Given the description of an element on the screen output the (x, y) to click on. 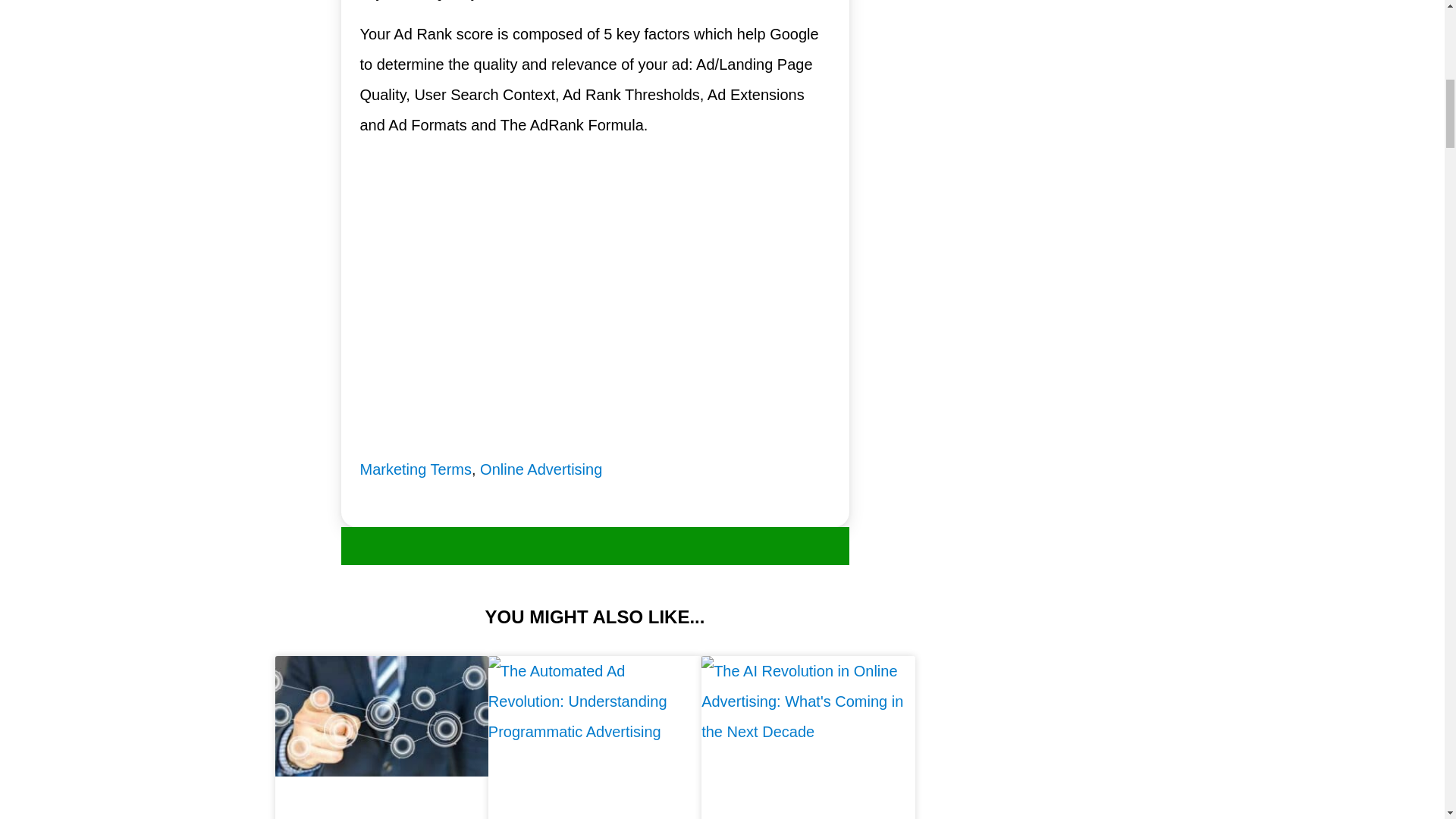
Online Advertising (541, 469)
Marketing Terms (414, 469)
